Given the description of an element on the screen output the (x, y) to click on. 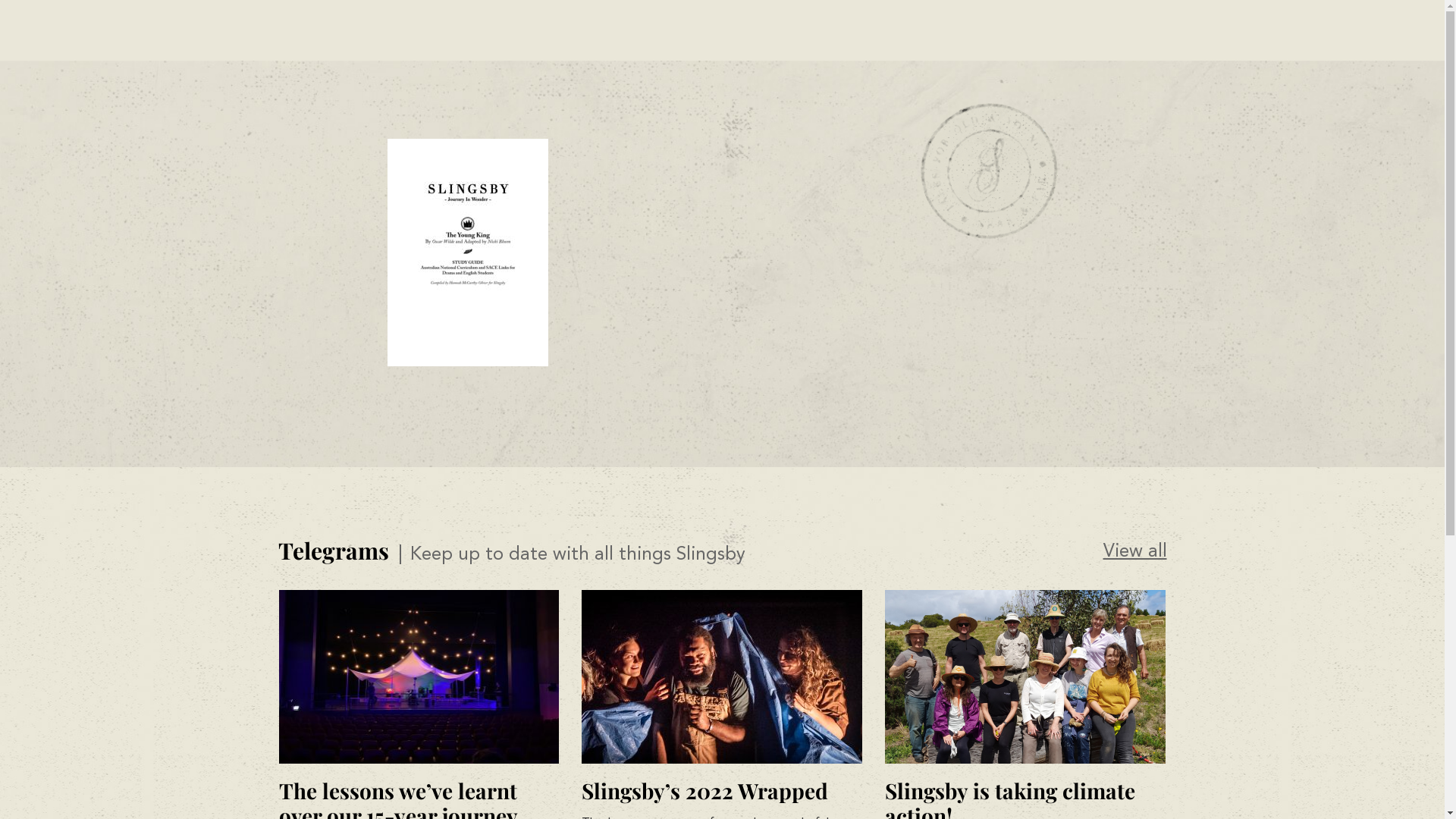
View all Element type: text (1134, 552)
